Given the description of an element on the screen output the (x, y) to click on. 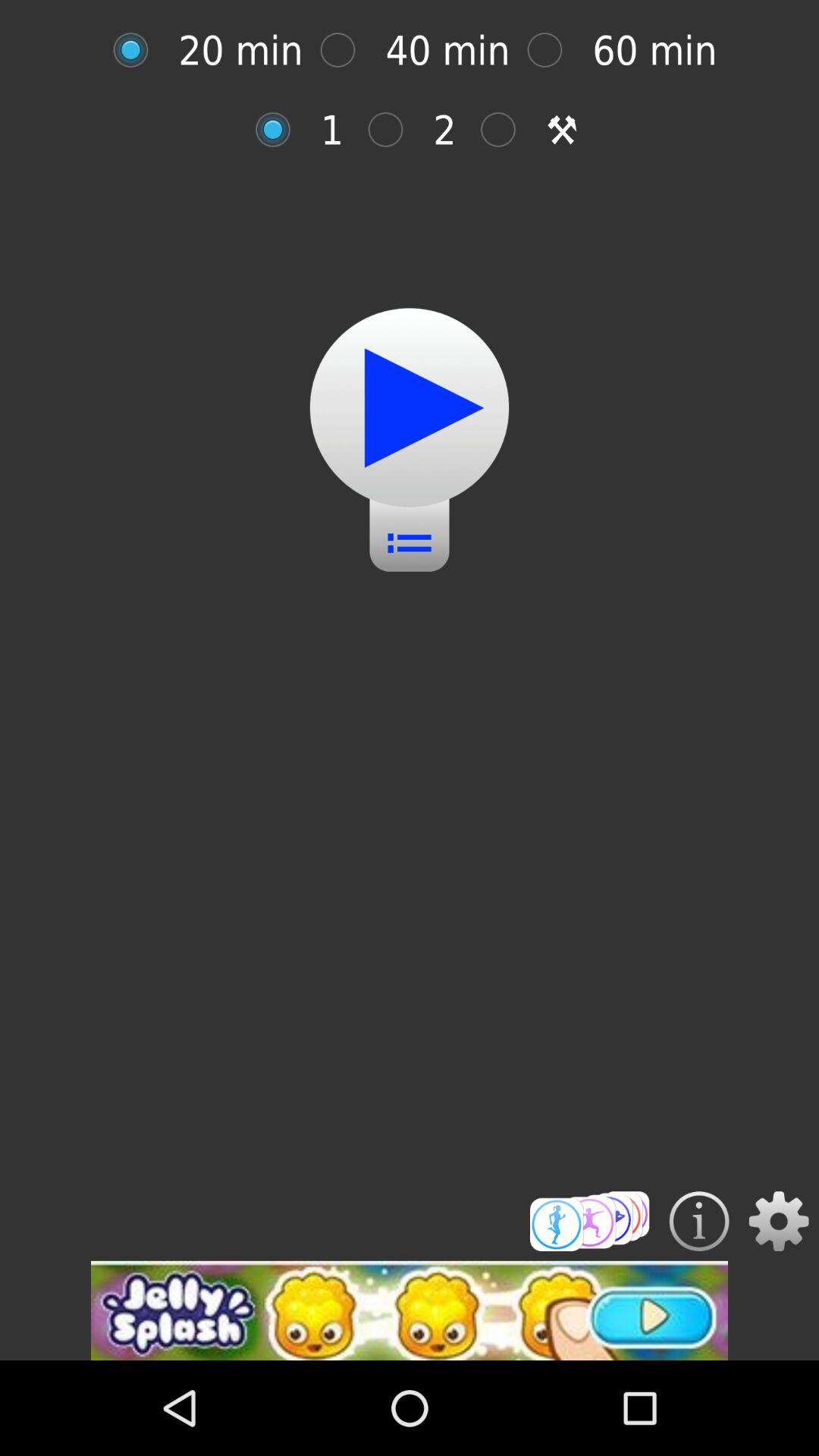
select 60 minute workout (552, 49)
